Given the description of an element on the screen output the (x, y) to click on. 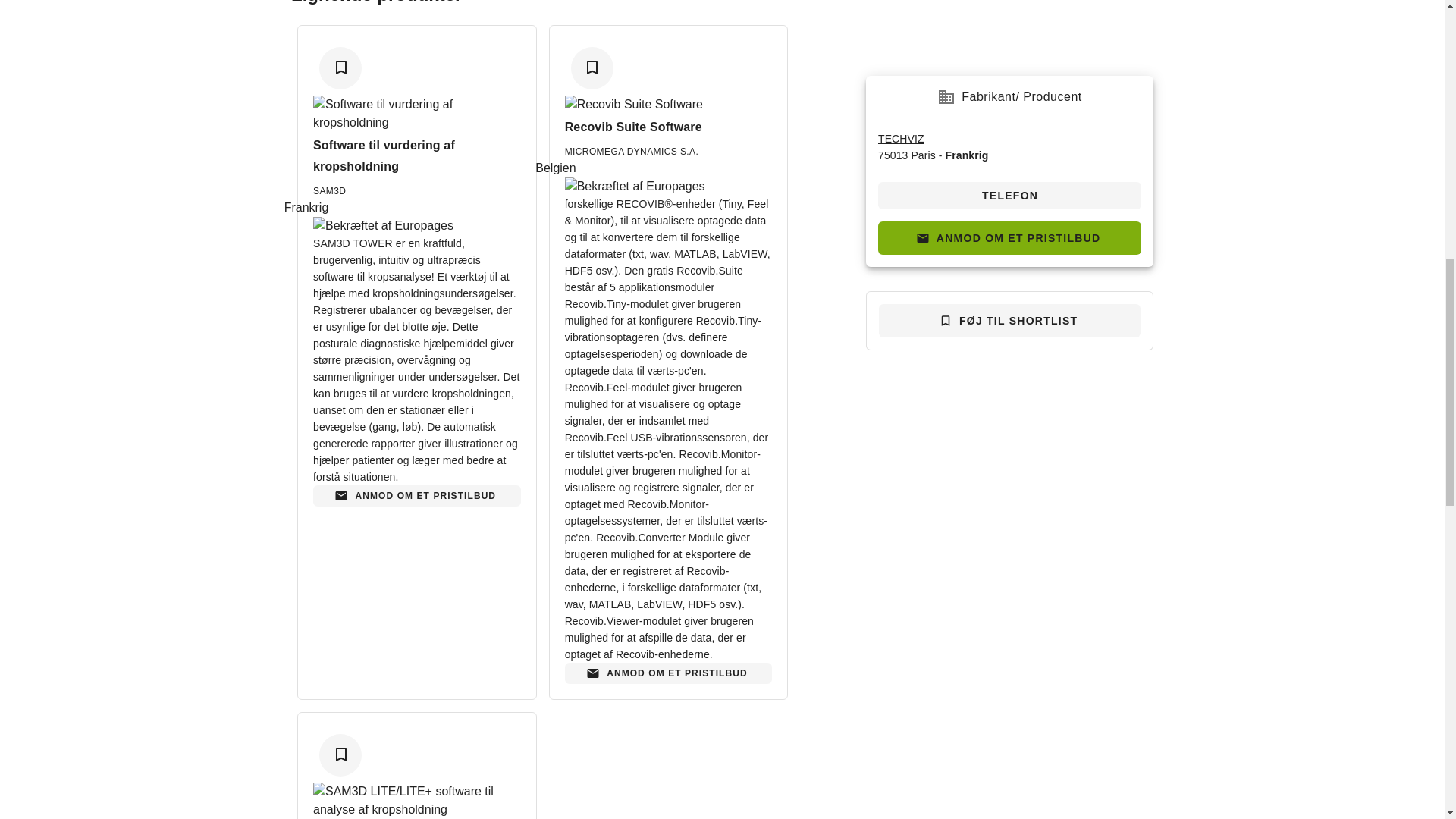
BOOKMARK OUTLINE ICON (340, 753)
BOOKMARK OUTLINE ICON (340, 66)
BOOKMARK OUTLINE ICON (592, 66)
